Given the description of an element on the screen output the (x, y) to click on. 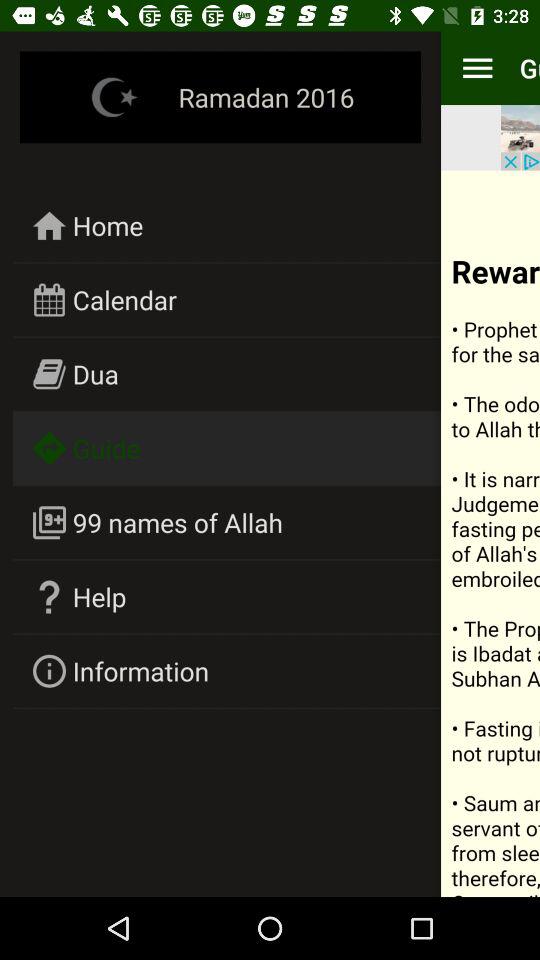
tap the item above dua icon (124, 299)
